Given the description of an element on the screen output the (x, y) to click on. 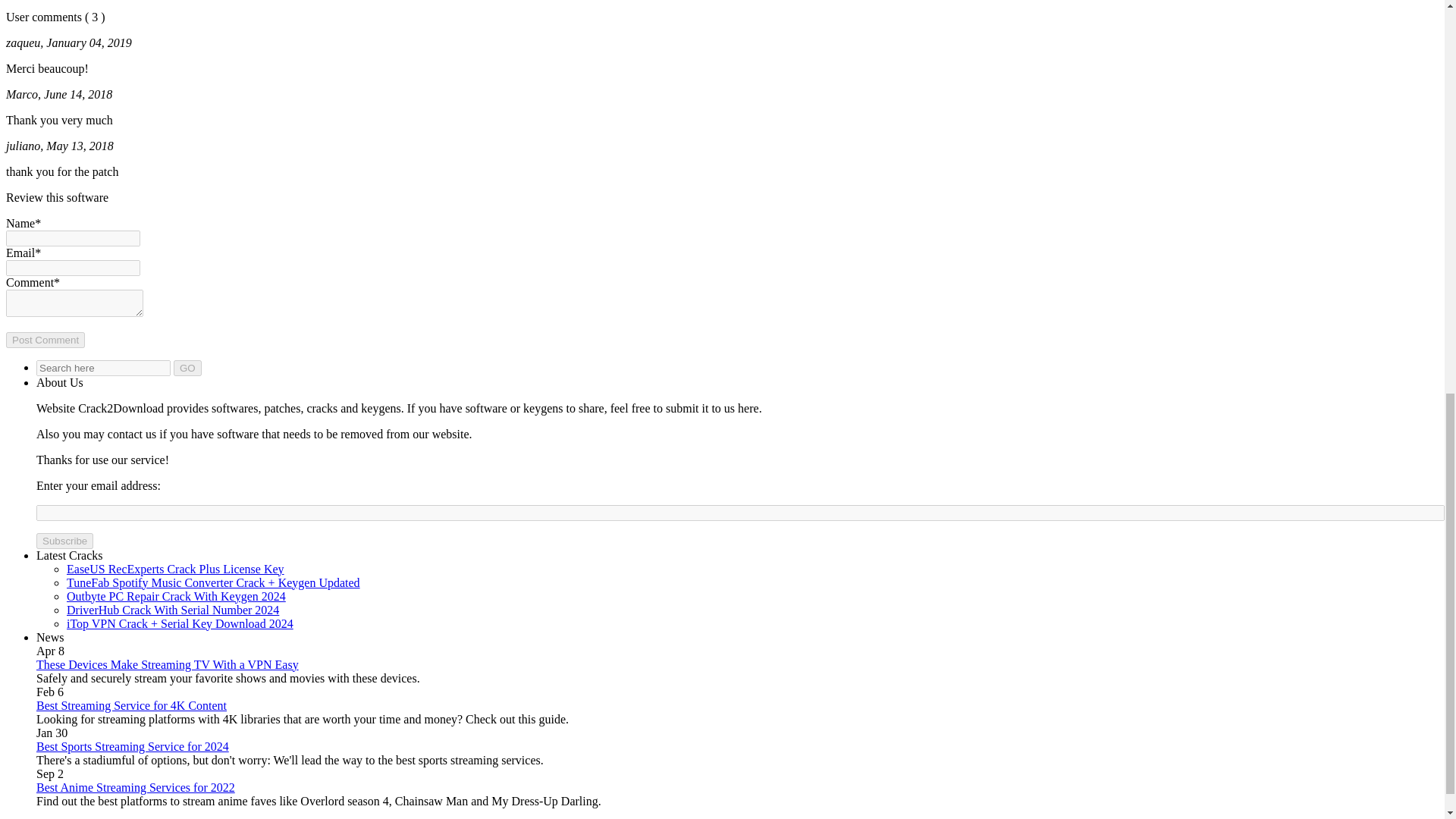
Subscribe (64, 540)
GO (187, 367)
Post Comment (44, 340)
Post Comment (44, 340)
EaseUS RecExperts Crack Plus License Key (174, 568)
Best Sports Streaming Service for 2024 (132, 746)
DriverHub Crack With Serial Number 2024 (172, 609)
Outbyte PC Repair Crack With Keygen 2024 (175, 595)
These Devices Make Streaming TV With a VPN Easy (167, 664)
GO (187, 367)
